Given the description of an element on the screen output the (x, y) to click on. 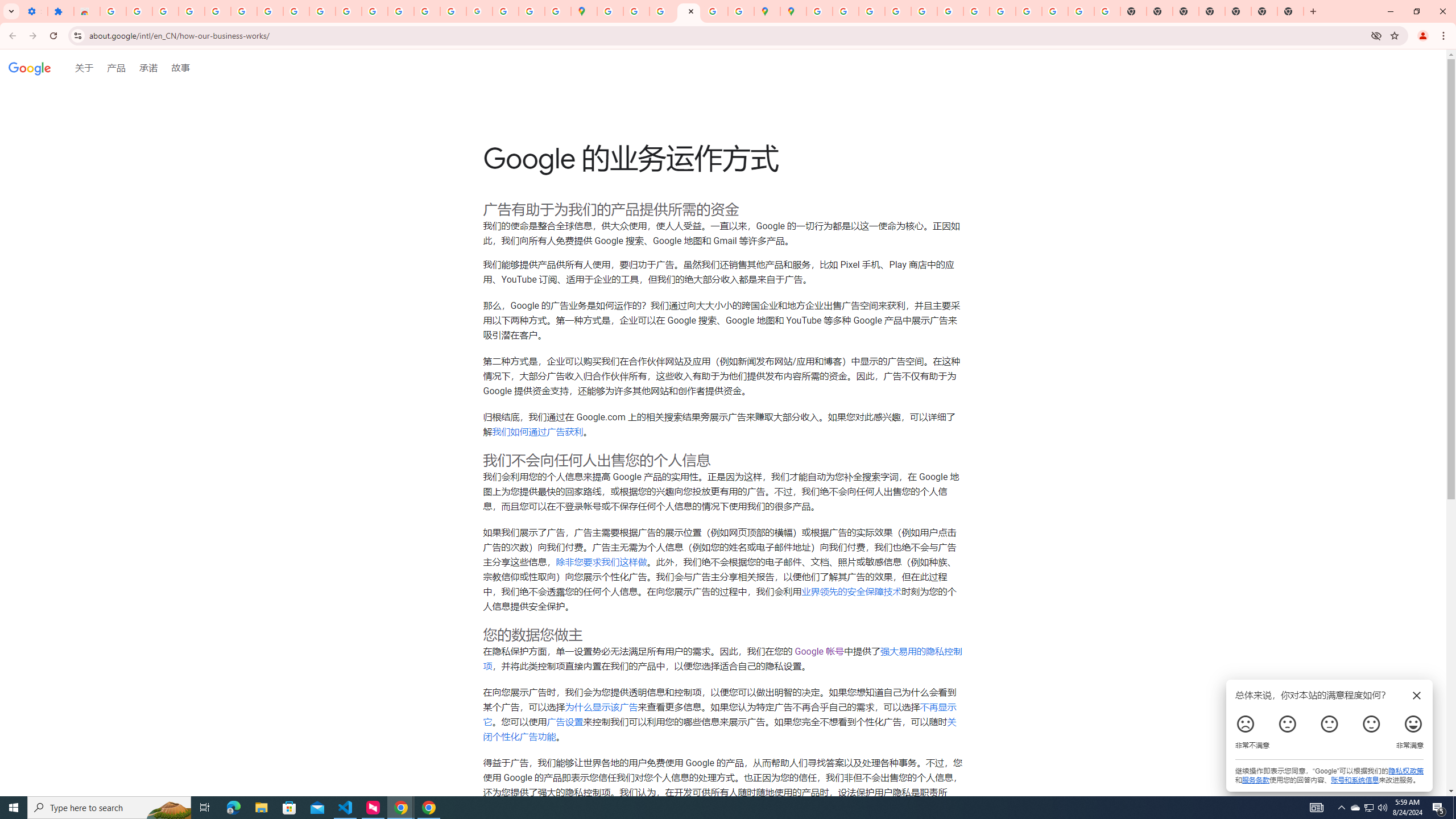
Reviews: Helix Fruit Jump Arcade Game (86, 11)
Google Maps (584, 11)
